Given the description of an element on the screen output the (x, y) to click on. 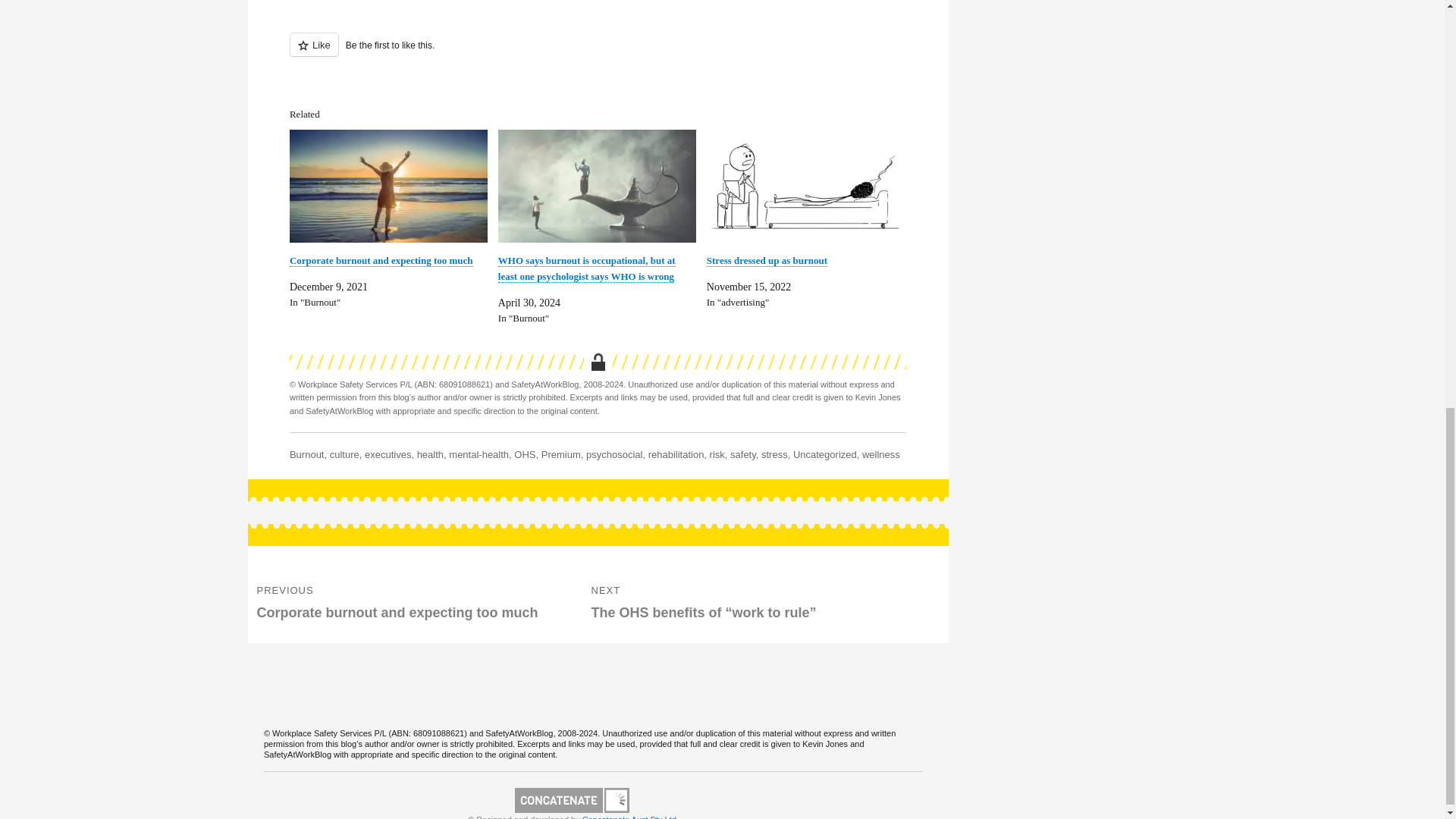
rehabilitation (675, 454)
stress (774, 454)
risk (717, 454)
psychosocial (614, 454)
Stress dressed up as burnout (805, 185)
mental-health (478, 454)
Corporate burnout and expecting too much (381, 260)
Stress dressed up as burnout (766, 260)
OHS (524, 454)
Corporate burnout and expecting too much (388, 185)
Stress dressed up as burnout (766, 260)
Premium (560, 454)
